Given the description of an element on the screen output the (x, y) to click on. 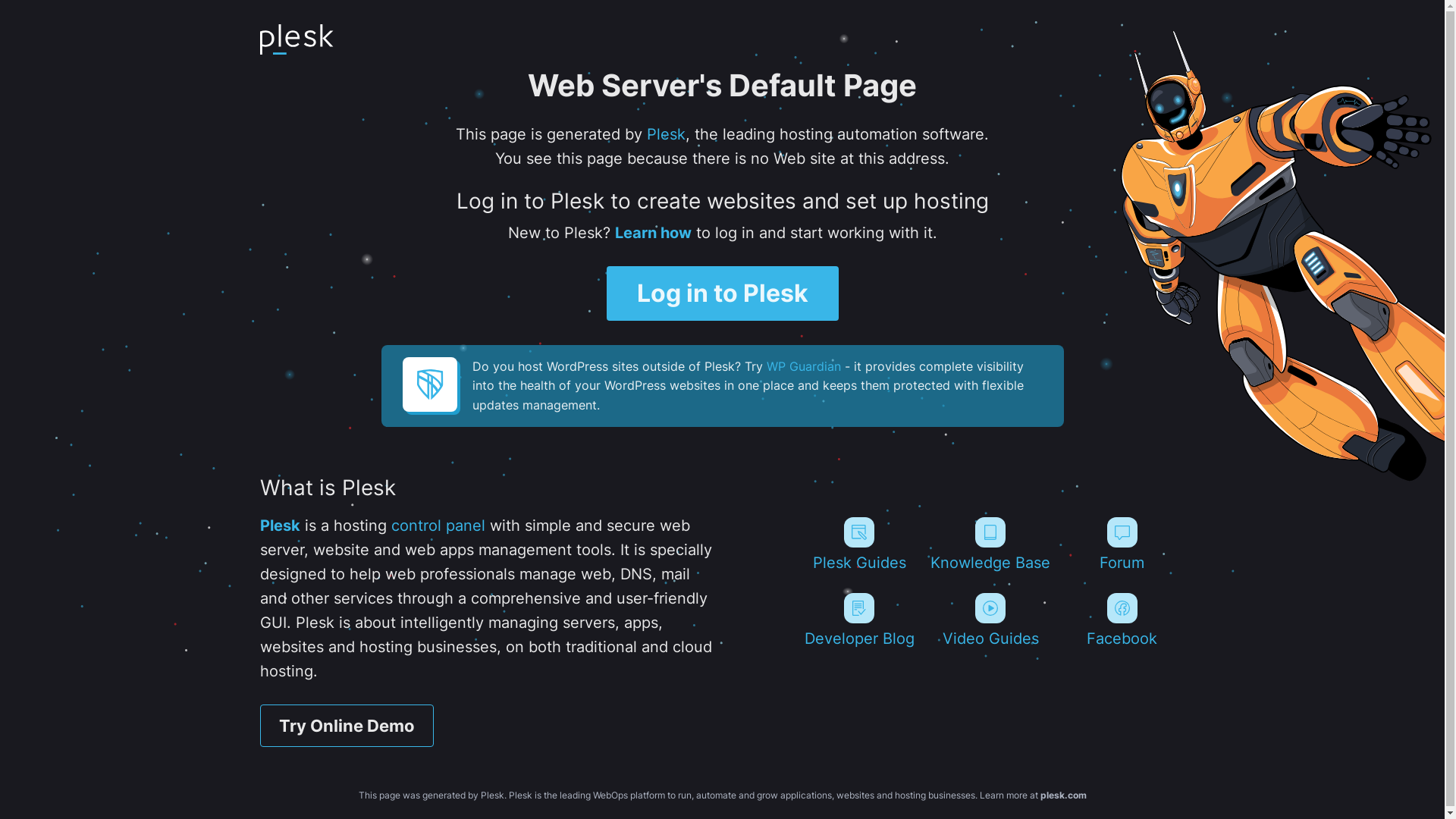
Plesk Element type: text (665, 134)
Developer Blog Element type: text (858, 620)
Log in to Plesk Element type: text (722, 293)
Knowledge Base Element type: text (990, 544)
Try Online Demo Element type: text (346, 725)
Learn how Element type: text (652, 232)
Video Guides Element type: text (990, 620)
WP Guardian Element type: text (802, 365)
plesk.com Element type: text (1063, 794)
Plesk Element type: text (279, 525)
control panel Element type: text (438, 525)
Plesk Guides Element type: text (858, 544)
Facebook Element type: text (1121, 620)
Forum Element type: text (1121, 544)
